Given the description of an element on the screen output the (x, y) to click on. 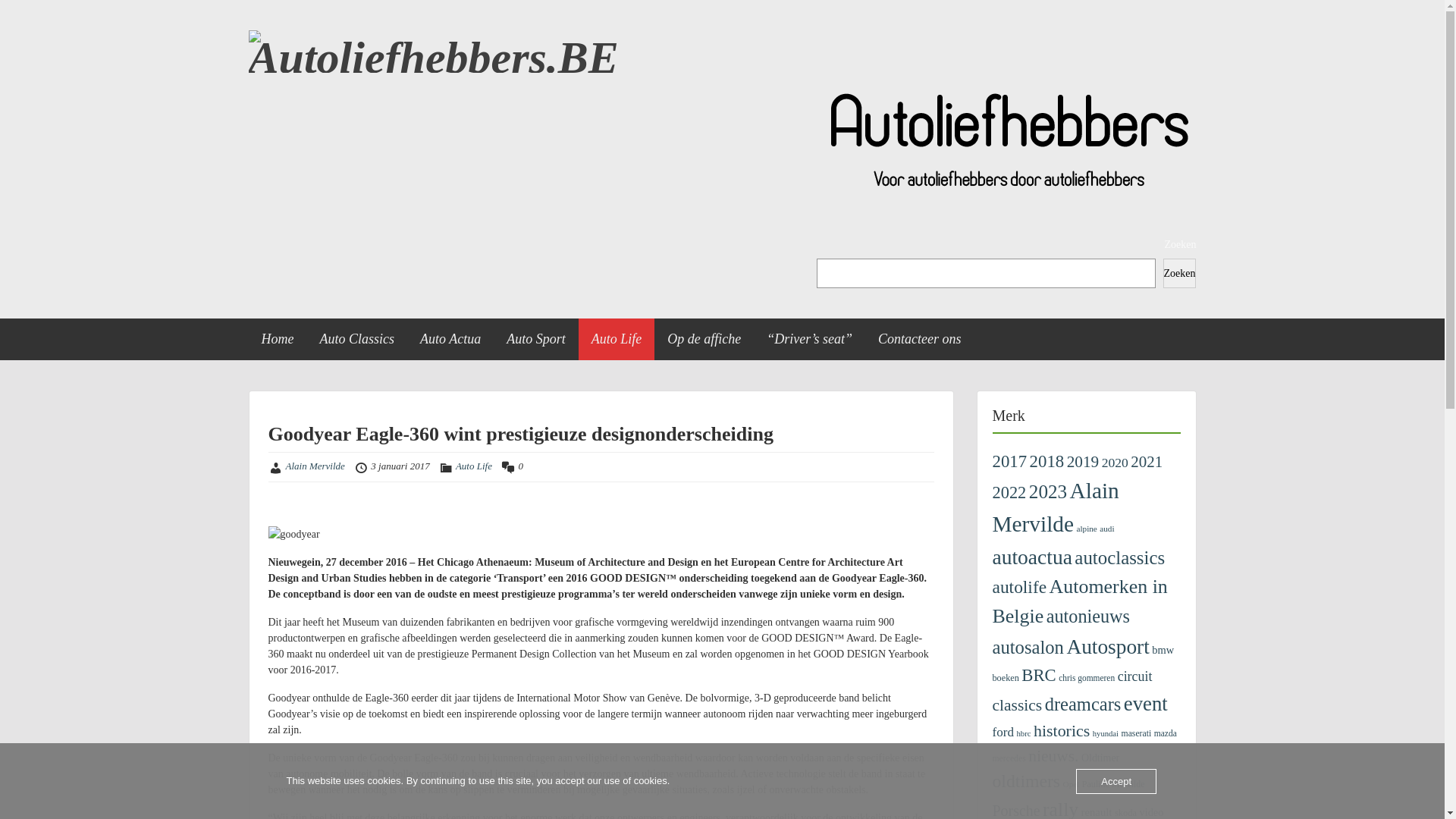
Op de affiche Element type: text (703, 339)
autoclassics Element type: text (1119, 557)
Contacteer ons Element type: text (919, 339)
2021 Element type: text (1146, 461)
2023 Element type: text (1047, 491)
hyundai Element type: text (1105, 733)
skoda Element type: text (1125, 812)
circuit Element type: text (1134, 676)
autoactua Element type: text (1031, 556)
dreamcars Element type: text (1082, 703)
2019 Element type: text (1082, 461)
2017 Element type: text (1008, 460)
nieuws. Element type: text (1053, 755)
Zoeken Element type: text (1179, 273)
Automerken in Belgie Element type: text (1079, 601)
classics Element type: text (1016, 705)
Auto Classics Element type: text (356, 339)
chris gommeren Element type: text (1086, 677)
Auto Life Element type: text (616, 339)
event Element type: text (1145, 703)
renault Element type: text (1096, 812)
Pauline Mervilde Element type: text (1113, 783)
mercedes Element type: text (1008, 758)
Auto Actua Element type: text (450, 339)
autosalon Element type: text (1027, 647)
Alain Mervilde Element type: text (315, 465)
autolife Element type: text (1018, 586)
Opel Element type: text (1071, 783)
oldtimers Element type: text (1025, 780)
autonieuws Element type: text (1087, 615)
mazda Element type: text (1165, 733)
Auto Life Element type: text (473, 465)
2020 Element type: text (1114, 462)
BRC Element type: text (1038, 674)
audi Element type: text (1106, 528)
maserati Element type: text (1136, 733)
2022 Element type: text (1008, 492)
boeken Element type: text (1004, 677)
hbrc Element type: text (1023, 732)
Autosport Element type: text (1107, 646)
Alain Mervilde Element type: text (1054, 507)
Home Element type: text (277, 339)
Oldtimer Element type: text (1100, 757)
historics Element type: text (1061, 730)
ford Element type: text (1002, 731)
video Element type: text (1151, 812)
2018 Element type: text (1046, 460)
alpine Element type: text (1086, 528)
Accept Element type: text (1116, 780)
bmw Element type: text (1162, 649)
Auto Sport Element type: text (535, 339)
